Given the description of an element on the screen output the (x, y) to click on. 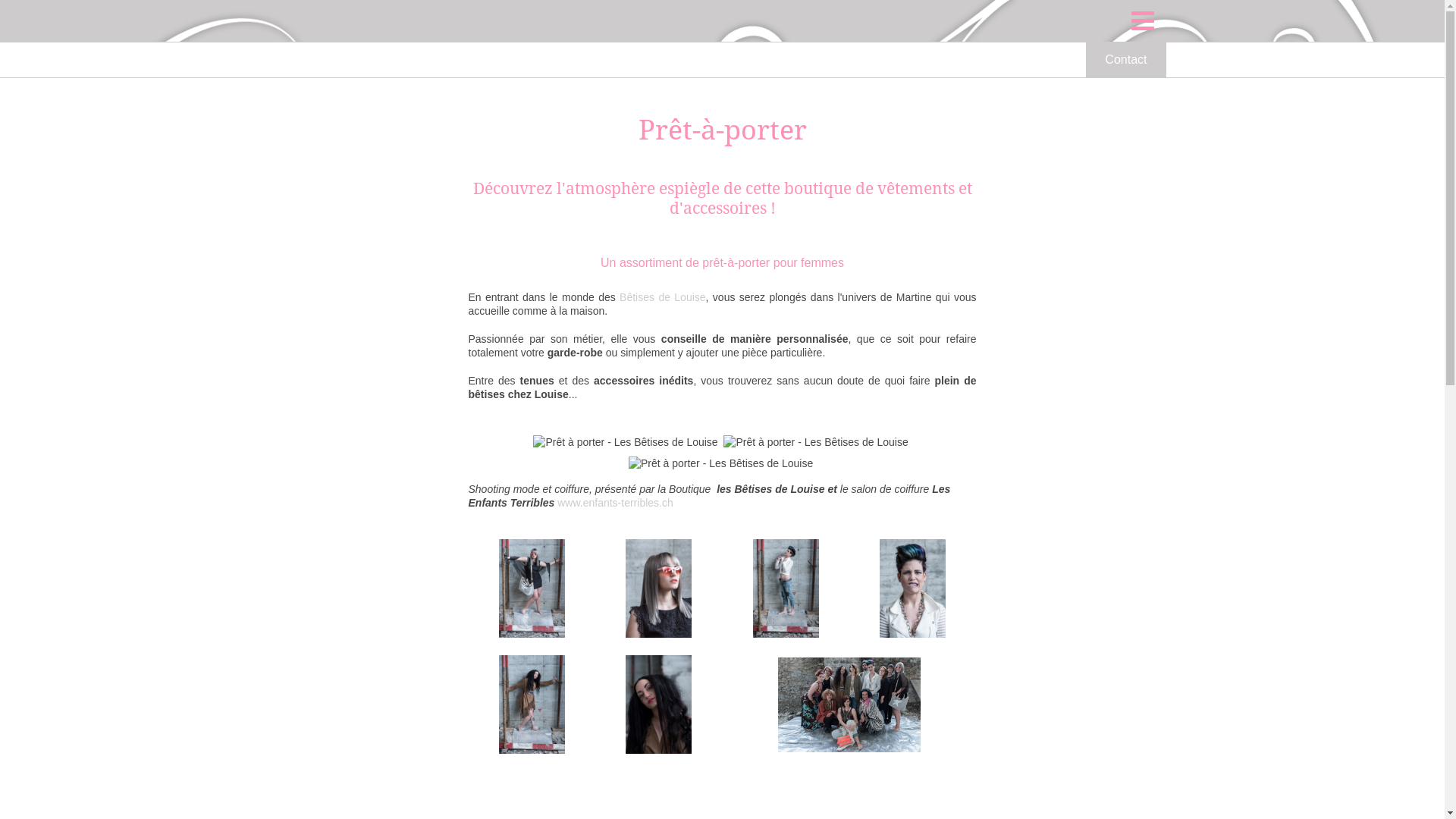
photo blonde Element type: hover (531, 588)
blonde 2 Element type: hover (658, 588)
brune 3 Element type: hover (531, 704)
www.enfants-terribles.ch Element type: text (615, 502)
groupe Element type: hover (849, 704)
brune4 Element type: hover (658, 704)
brune Element type: hover (786, 588)
brune 2 Element type: hover (912, 588)
Contact Element type: text (1125, 59)
